Given the description of an element on the screen output the (x, y) to click on. 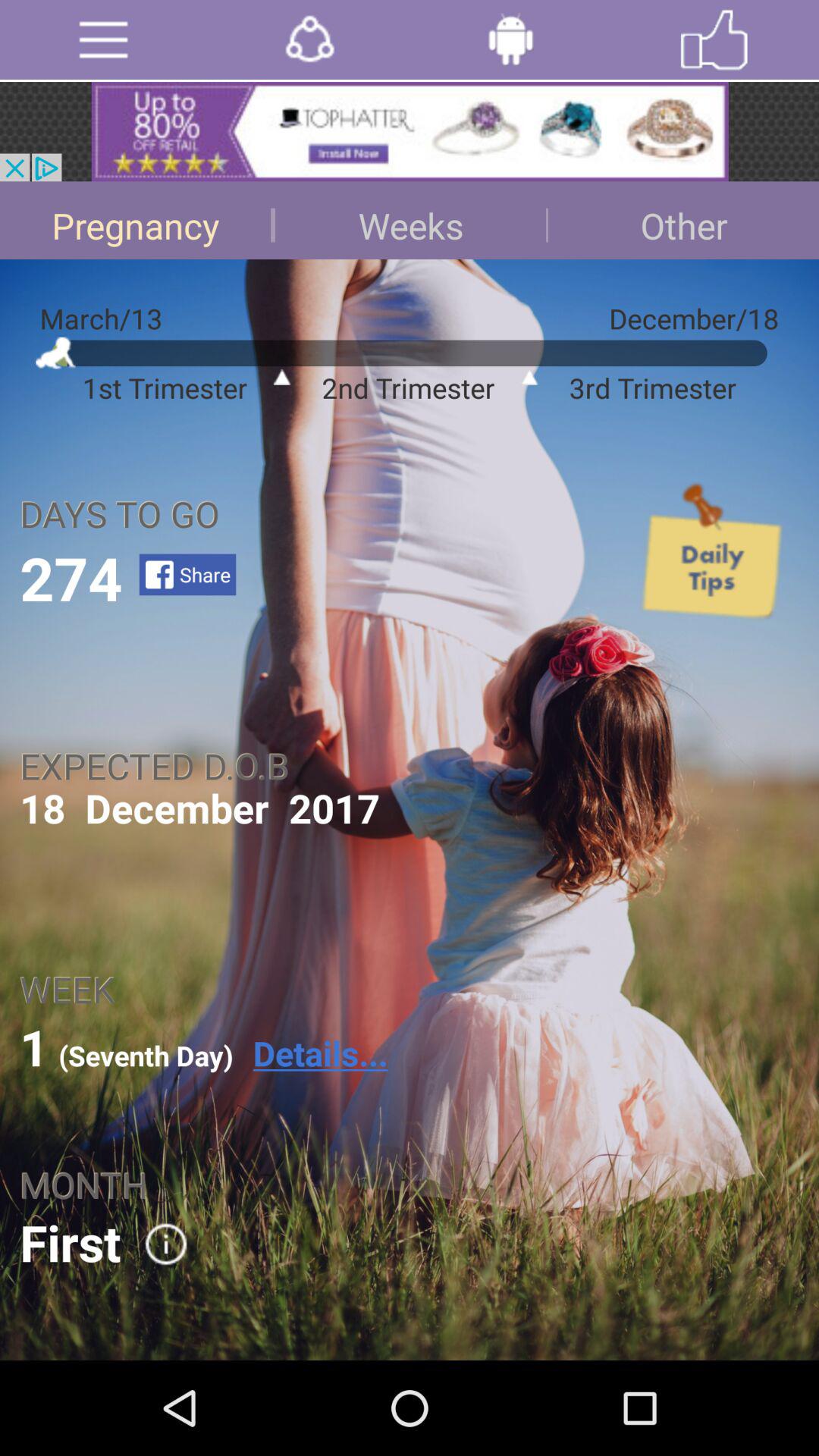
more info (156, 1244)
